Given the description of an element on the screen output the (x, y) to click on. 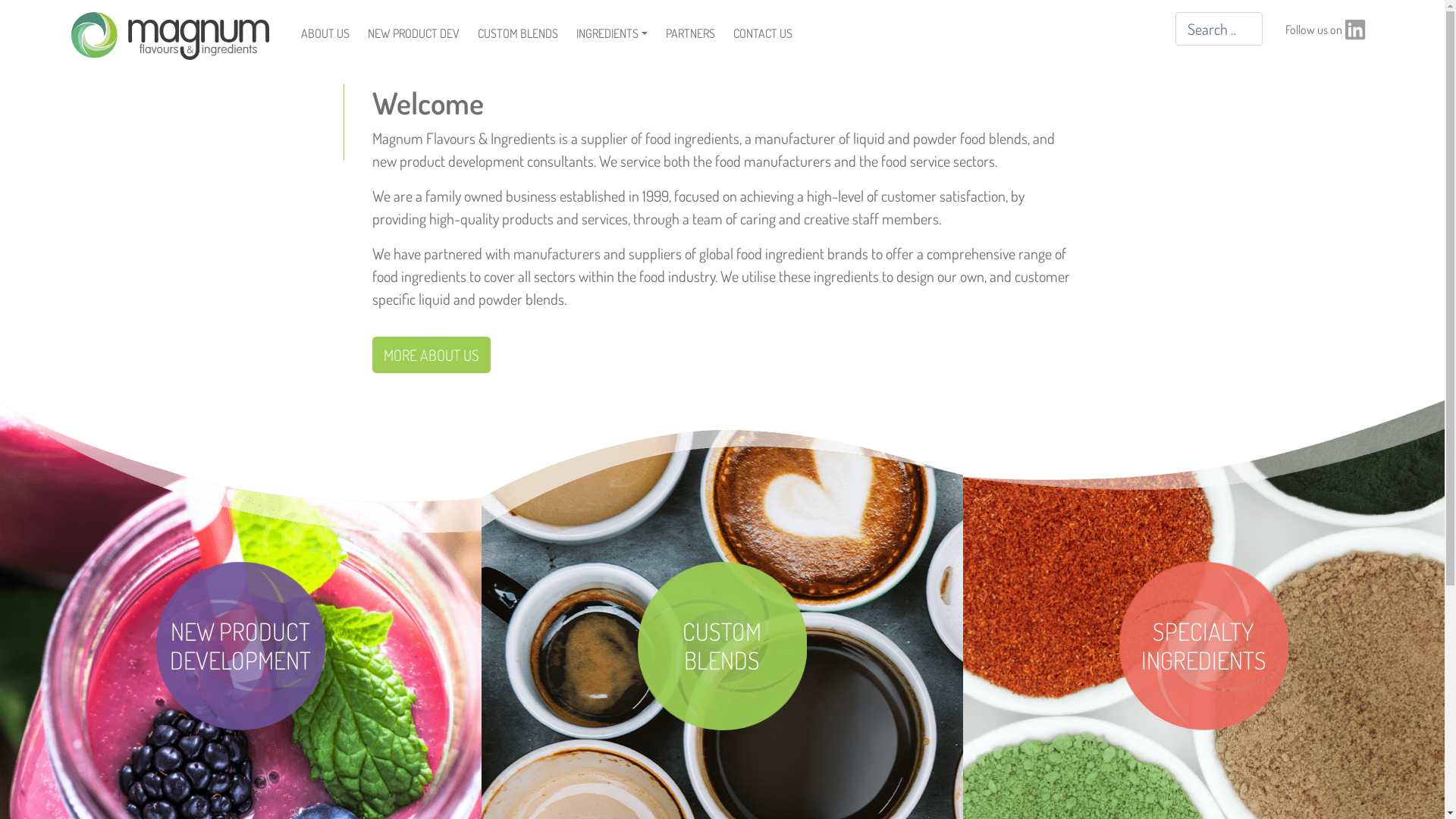
CUSTOM BLENDS Element type: text (721, 646)
CUSTOM BLENDS Element type: text (517, 33)
NEW PRODUCT DEV Element type: text (413, 33)
PARTNERS Element type: text (690, 33)
SPECIALTY INGREDIENTS Element type: text (1203, 646)
CONTACT US Element type: text (762, 33)
MORE ABOUT US Element type: text (431, 354)
ABOUT US Element type: text (324, 33)
NEW PRODUCT DEVELOPMENT Element type: text (240, 646)
Search Element type: text (37, 21)
INGREDIENTS Element type: text (611, 33)
